Given the description of an element on the screen output the (x, y) to click on. 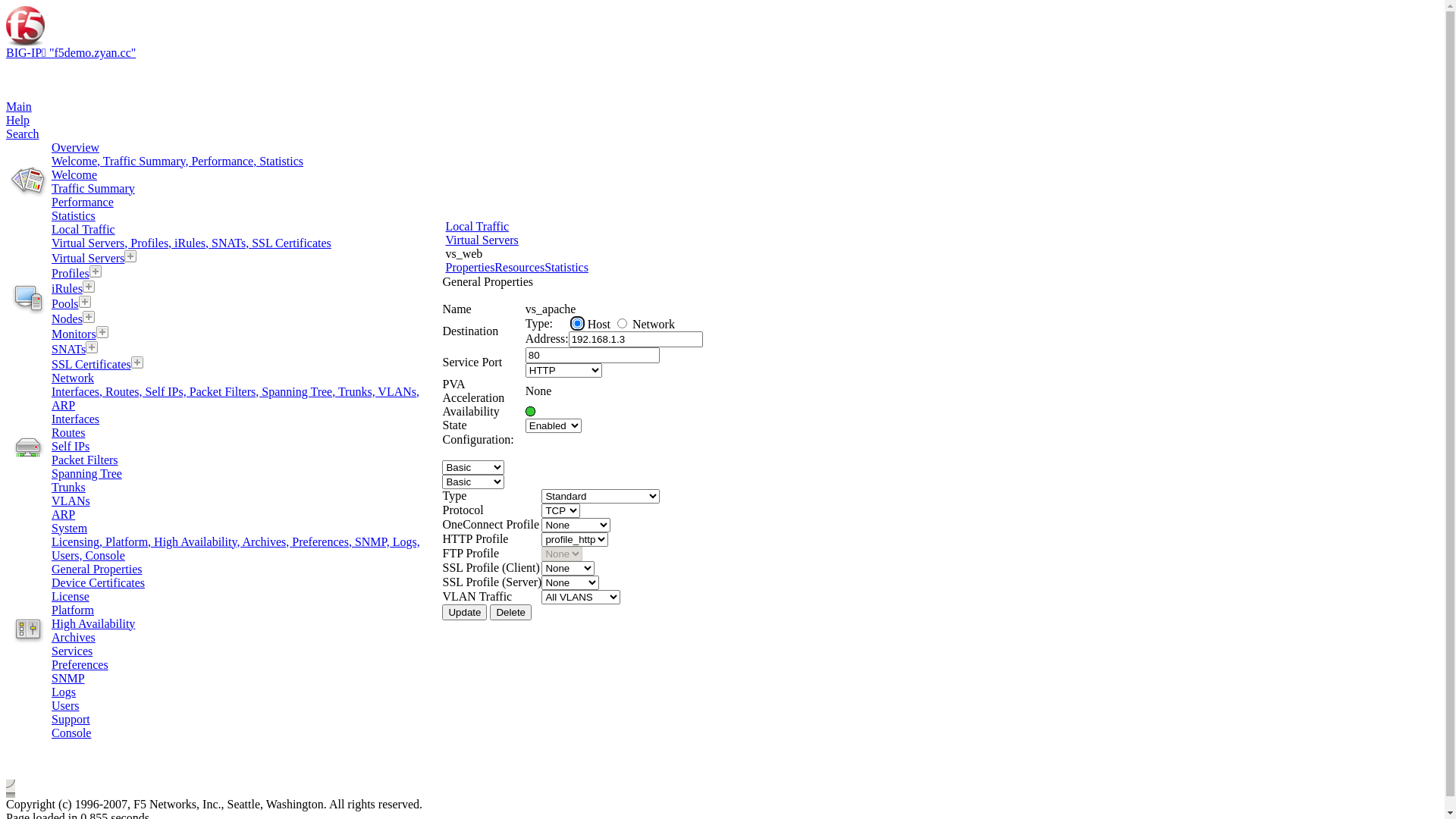
SNATs Element type: text (68, 348)
Virtual Servers Element type: text (87, 257)
Welcome Element type: text (74, 174)
Performance Element type: text (82, 201)
Resources Element type: text (519, 266)
Users Element type: text (64, 705)
Traffic Summary Element type: text (92, 188)
ARP Element type: text (63, 514)
Platform Element type: text (72, 609)
Properties Element type: text (469, 266)
Services Element type: text (71, 650)
Packet Filters Element type: text (84, 459)
VLANs Element type: text (70, 500)
SSL Certificates Element type: text (91, 363)
Click here to return to the Start Screen. Element type: hover (224, 26)
Self IPs Element type: text (70, 445)
host Element type: text (577, 323)
High Availability Element type: text (92, 623)
Virtual Servers Element type: text (481, 239)
Monitors Element type: text (73, 333)
192.168.1.3 Element type: text (635, 338)
Spanning Tree Element type: text (86, 473)
Interfaces Element type: text (75, 418)
Device Certificates Element type: text (97, 582)
Create Profile Element type: hover (95, 271)
Help Element type: text (17, 119)
  Element type: text (448, 6)
Nodes Element type: text (66, 318)
Overview
Welcome, Traffic Summary, Performance, Statistics Element type: text (246, 154)
Create SSL Certificate Element type: hover (137, 362)
Profiles Element type: text (70, 272)
Create Node Element type: hover (88, 316)
Statistics Element type: text (73, 215)
Create iRule Element type: hover (88, 286)
Support Element type: text (70, 718)
Search Element type: text (22, 133)
Local Traffic Element type: text (476, 225)
Create Monitor Element type: hover (102, 332)
Statistics Element type: text (566, 266)
Trunks Element type: text (68, 486)
Logs Element type: text (63, 691)
SNMP Element type: text (67, 677)
Create SNAT Element type: hover (91, 347)
General Properties Element type: text (96, 568)
Delete Element type: text (510, 611)
Main Element type: text (18, 106)
Available (Enabled) - The virtual server is available Element type: hover (530, 411)
Routes Element type: text (67, 432)
Preferences Element type: text (79, 664)
Pools Element type: text (64, 303)
Console Element type: text (71, 732)
80 Element type: text (592, 355)
Archives Element type: text (73, 636)
License Element type: text (70, 595)
network Element type: text (622, 323)
Create Virtual Server Element type: hover (130, 256)
Create Pool Element type: hover (84, 301)
Update Element type: text (464, 611)
iRules Element type: text (66, 288)
